Given the description of an element on the screen output the (x, y) to click on. 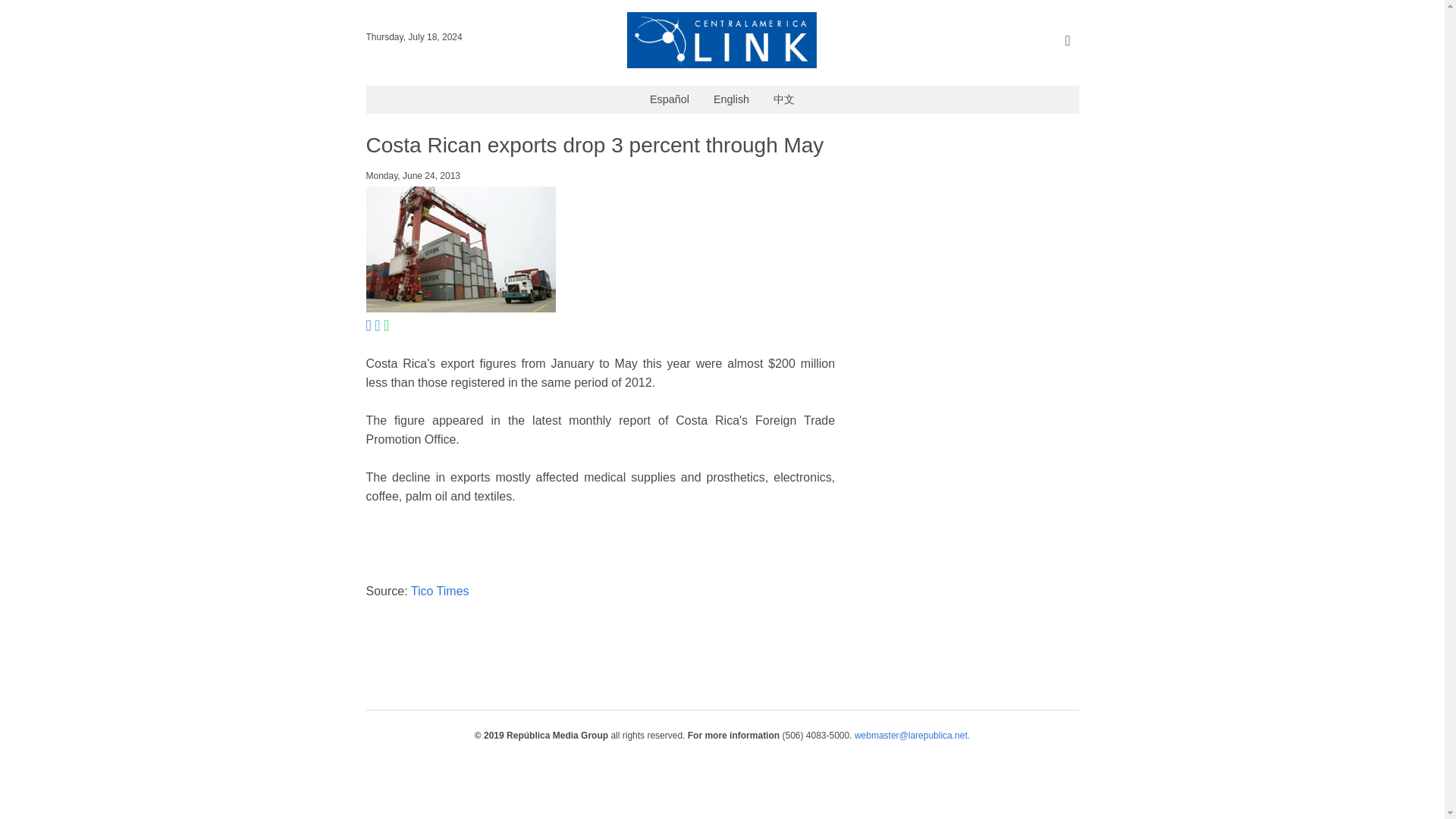
English (731, 99)
Logo (721, 63)
Tico Times (439, 590)
